Given the description of an element on the screen output the (x, y) to click on. 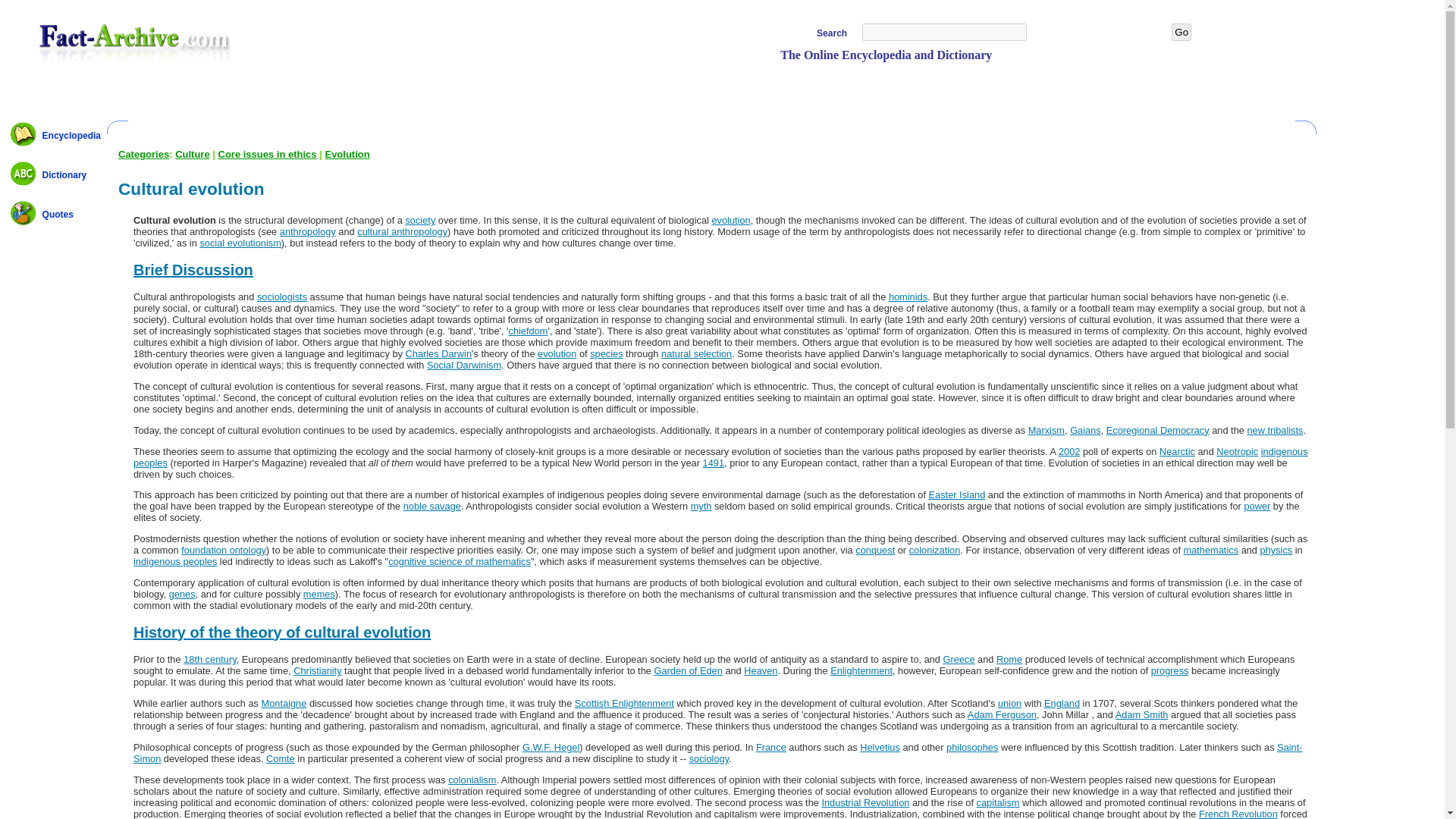
Ecoregional Democracy (1157, 430)
evolution (730, 220)
anthropology (307, 231)
foundation ontology (223, 550)
Go (1181, 31)
Social Darwinism (463, 365)
Evolution (346, 153)
Nearctic (1176, 451)
Culture (191, 153)
hominids (907, 296)
